Given the description of an element on the screen output the (x, y) to click on. 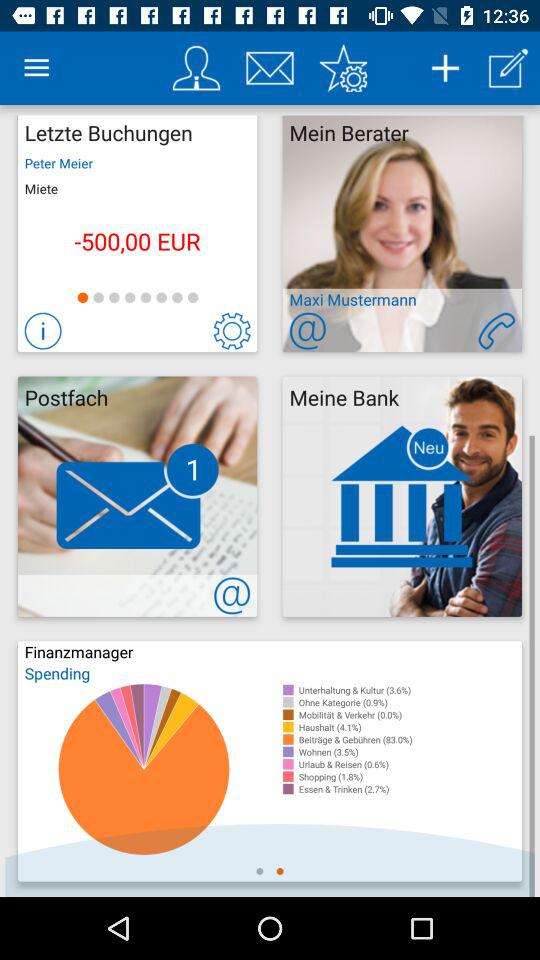
open profile (196, 67)
